Given the description of an element on the screen output the (x, y) to click on. 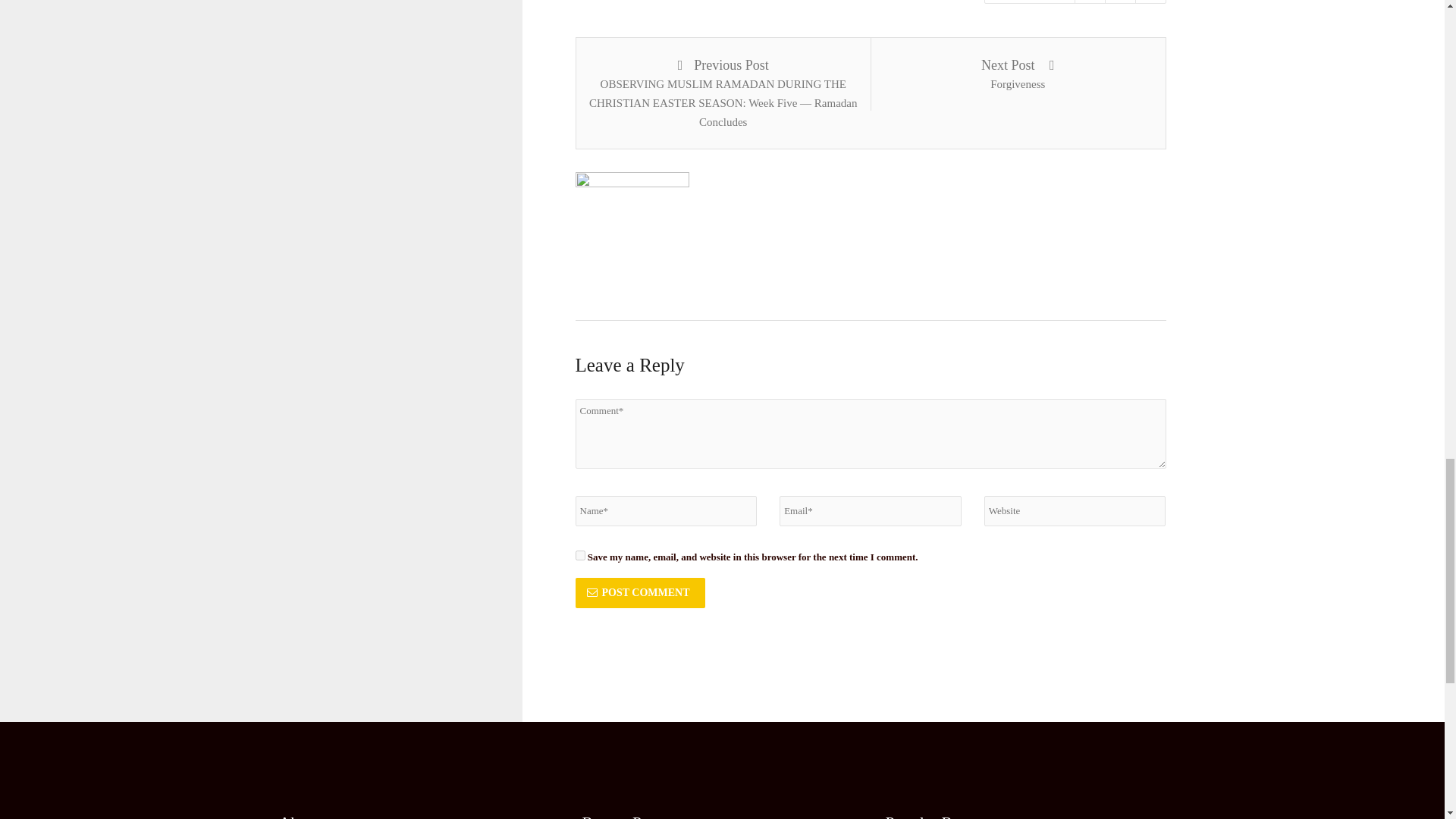
yes (580, 555)
Share on Linkedin (1149, 1)
Post Comment (639, 593)
Share on Facebook (1088, 1)
Share on Twitter (1118, 1)
